Given the description of an element on the screen output the (x, y) to click on. 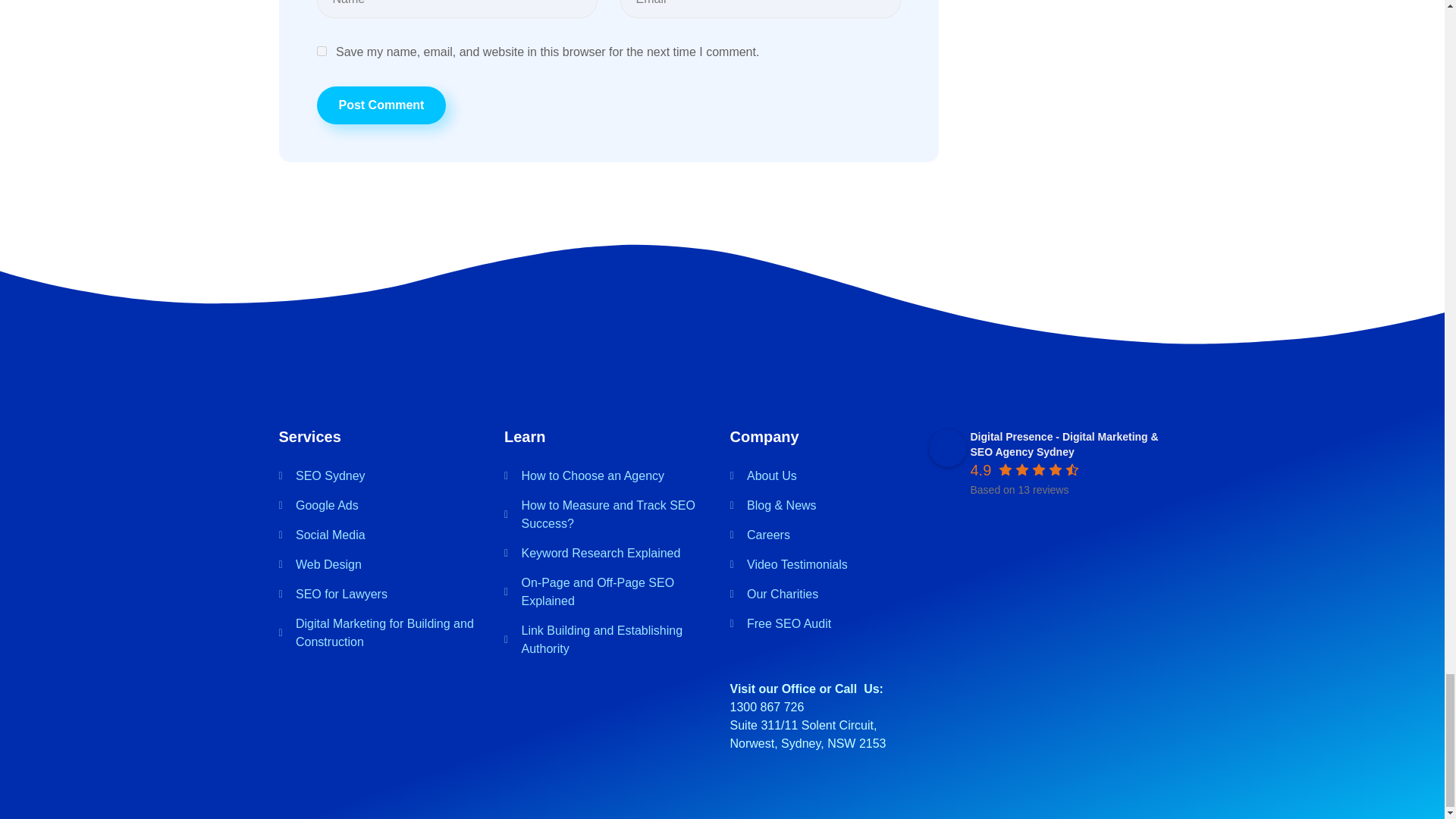
yes (321, 50)
powered by Google (1025, 508)
Post Comment (381, 105)
